Given the description of an element on the screen output the (x, y) to click on. 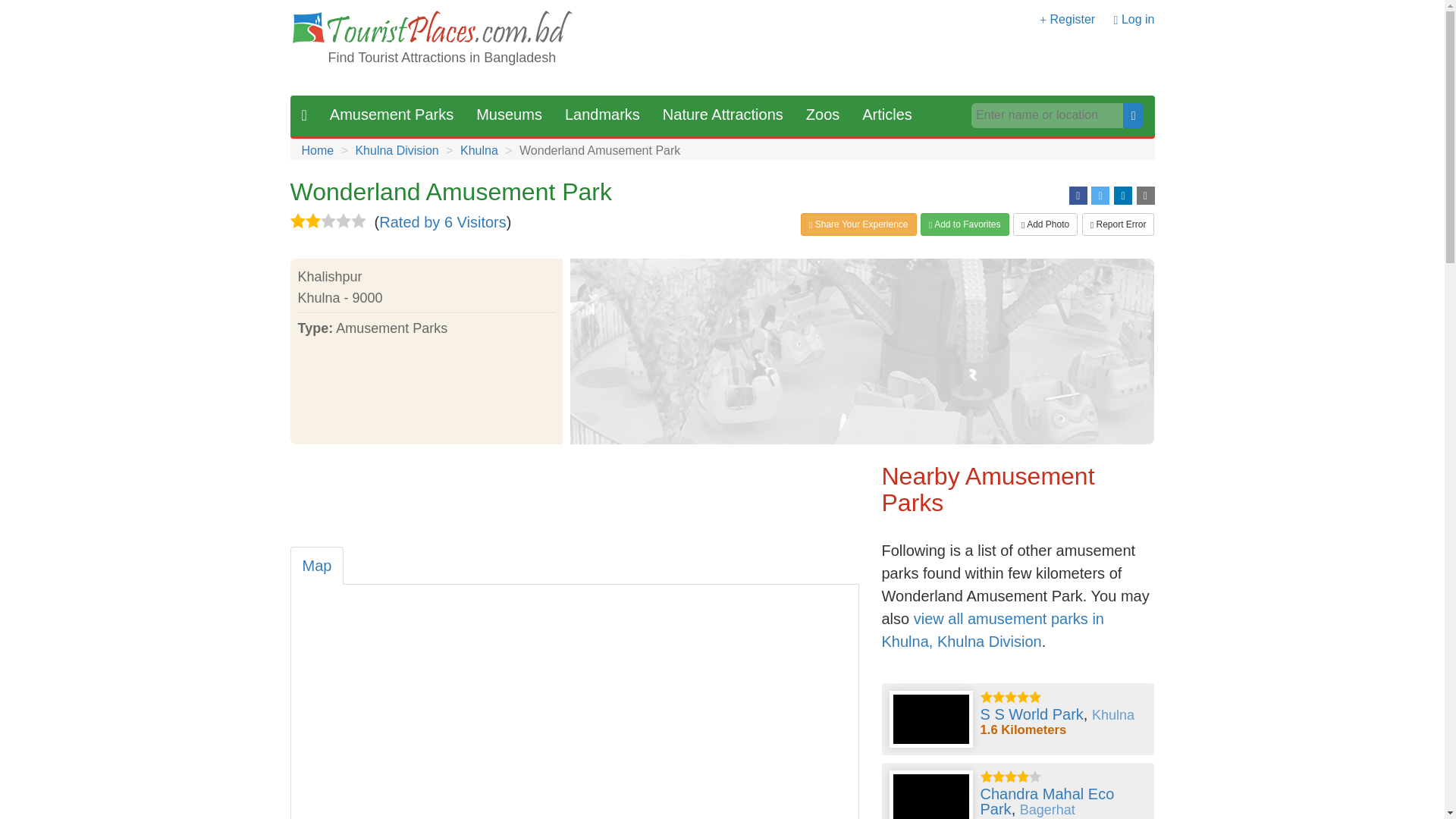
Find Tourist Attractions in Bangladesh (441, 57)
Add Photo (1045, 223)
Rated by 6 Visitors (442, 221)
www.touristplaces.com.bd (431, 29)
Log in (1137, 19)
Nature Attractions (722, 114)
Zoos (822, 114)
view all amusement parks in Khulna, Khulna Division (991, 630)
